Given the description of an element on the screen output the (x, y) to click on. 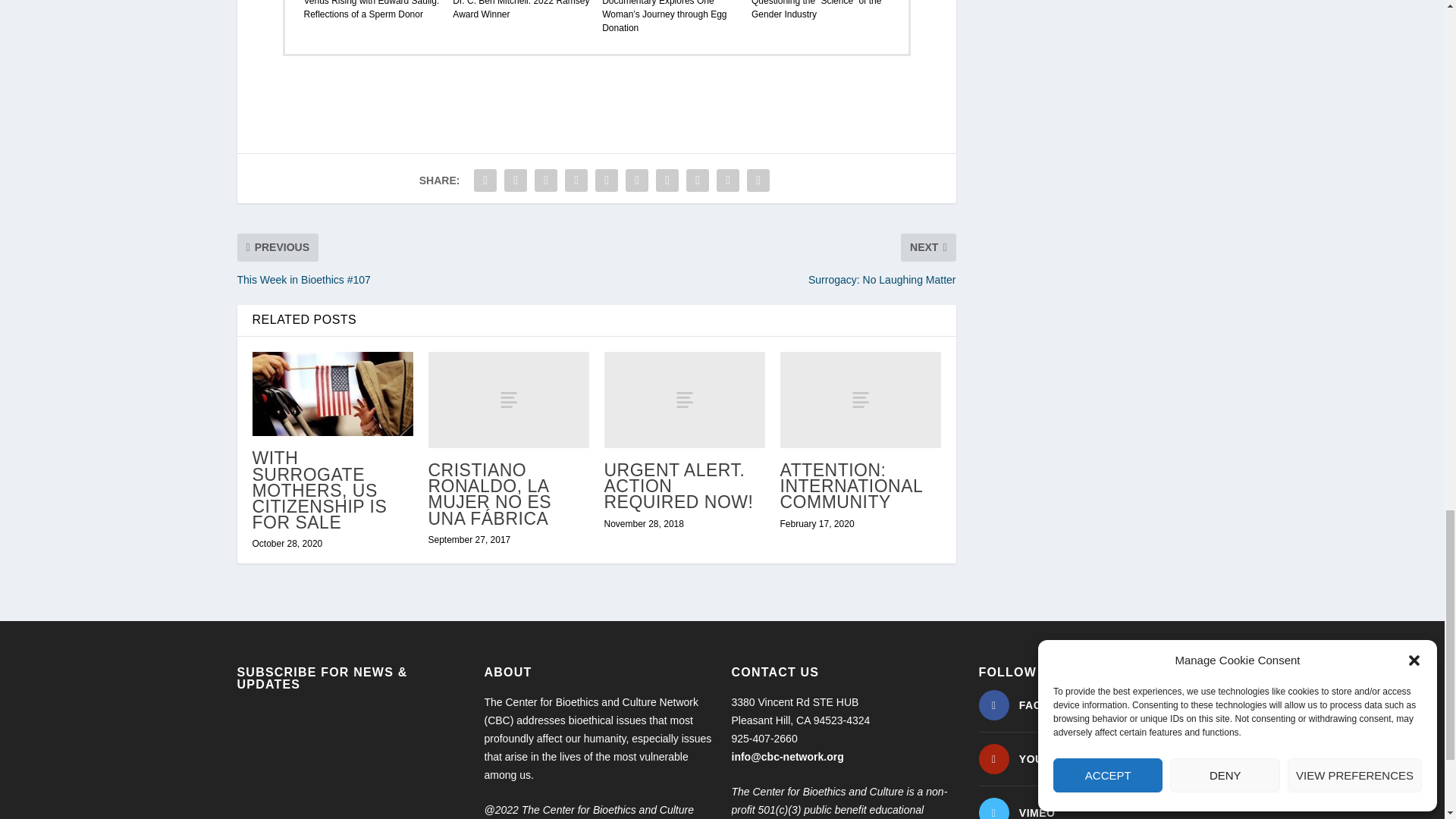
With Surrogate Mothers, US Citizenship Is for Sale (331, 393)
Urgent Alert. Action Required Now! (684, 399)
